Given the description of an element on the screen output the (x, y) to click on. 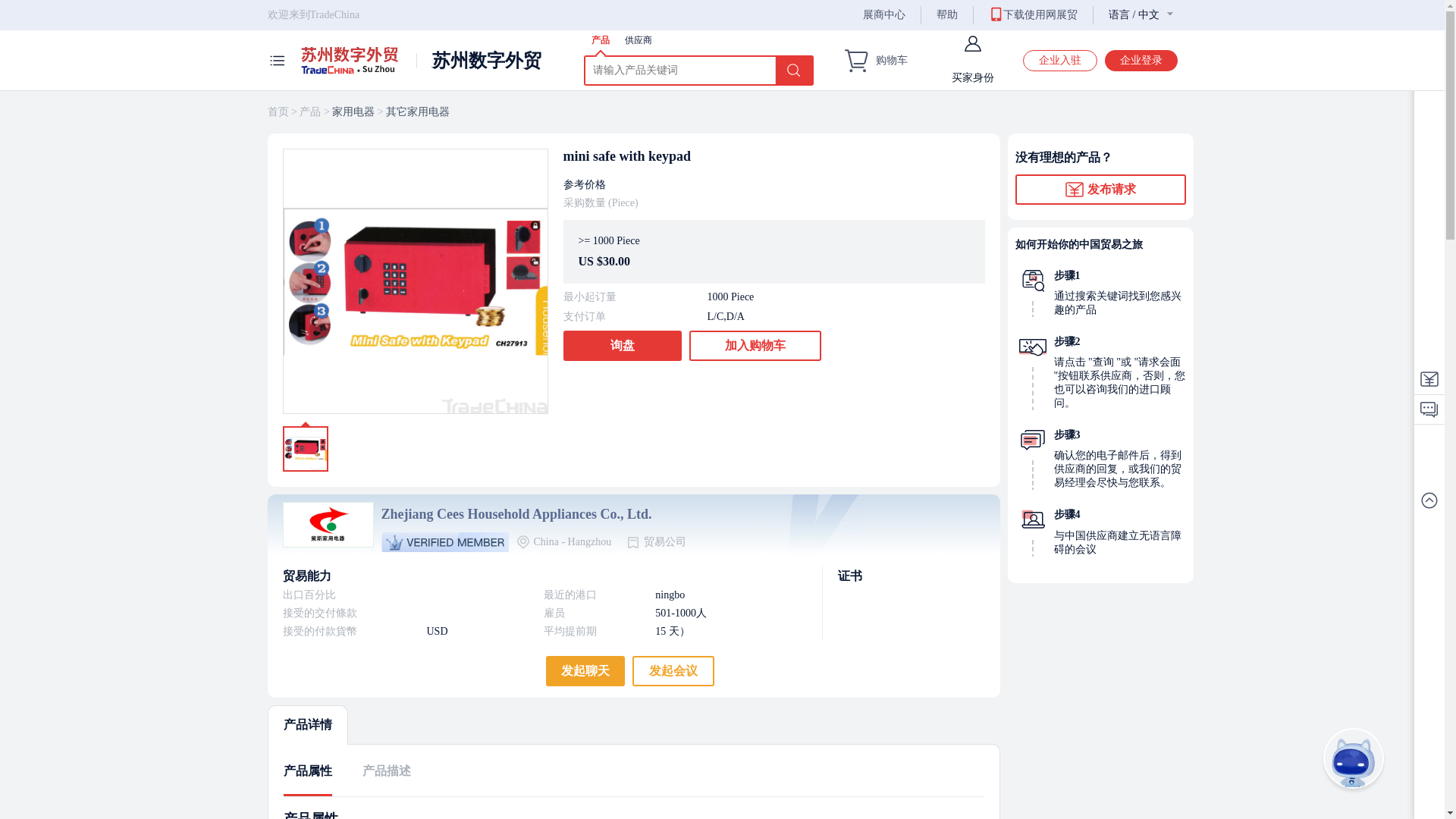
Zhejiang Cees Household Appliances Co., Ltd. (525, 513)
USD (477, 631)
ningbo (722, 595)
